Given the description of an element on the screen output the (x, y) to click on. 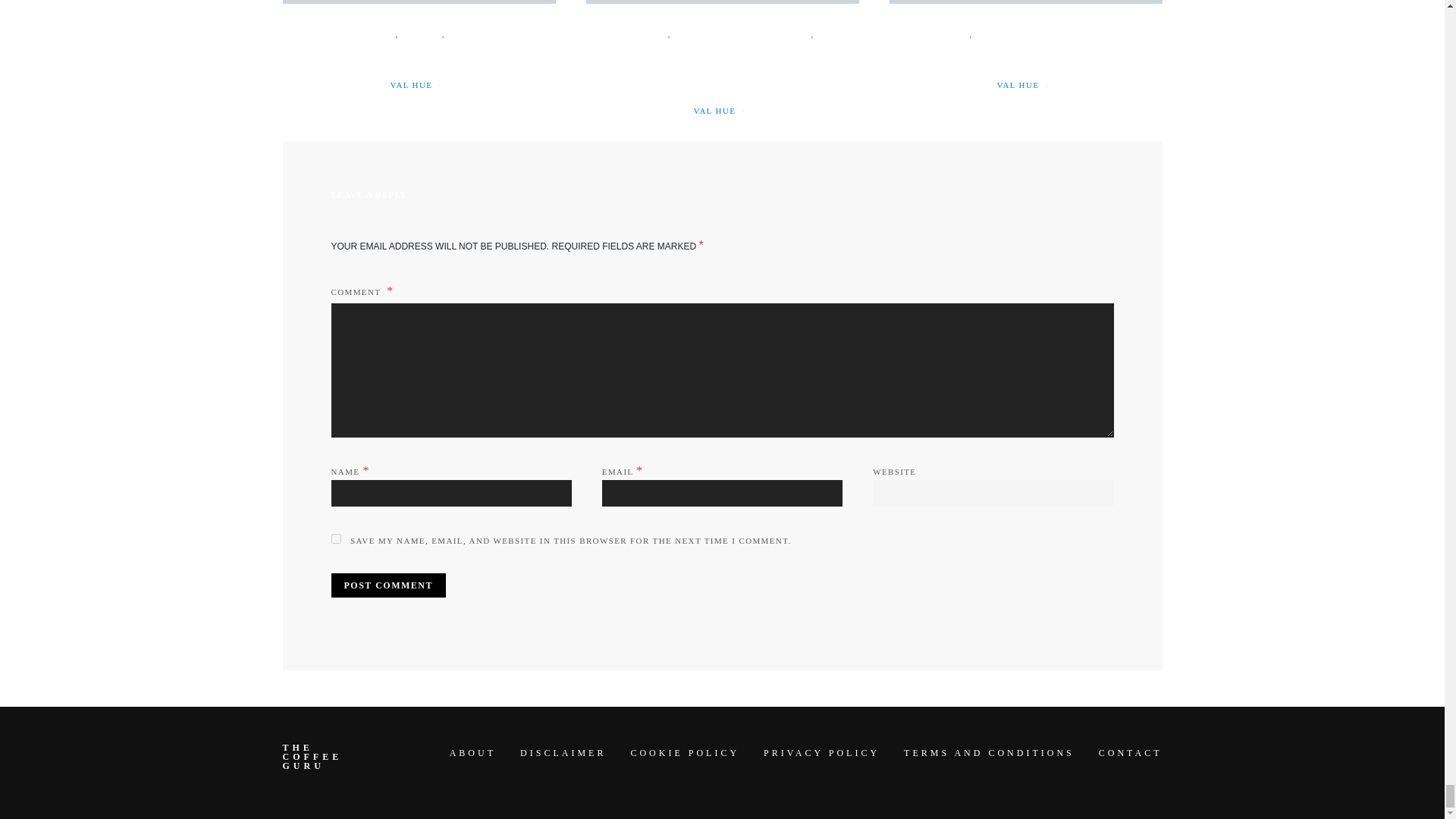
yes (335, 538)
Post Comment (387, 585)
